Given the description of an element on the screen output the (x, y) to click on. 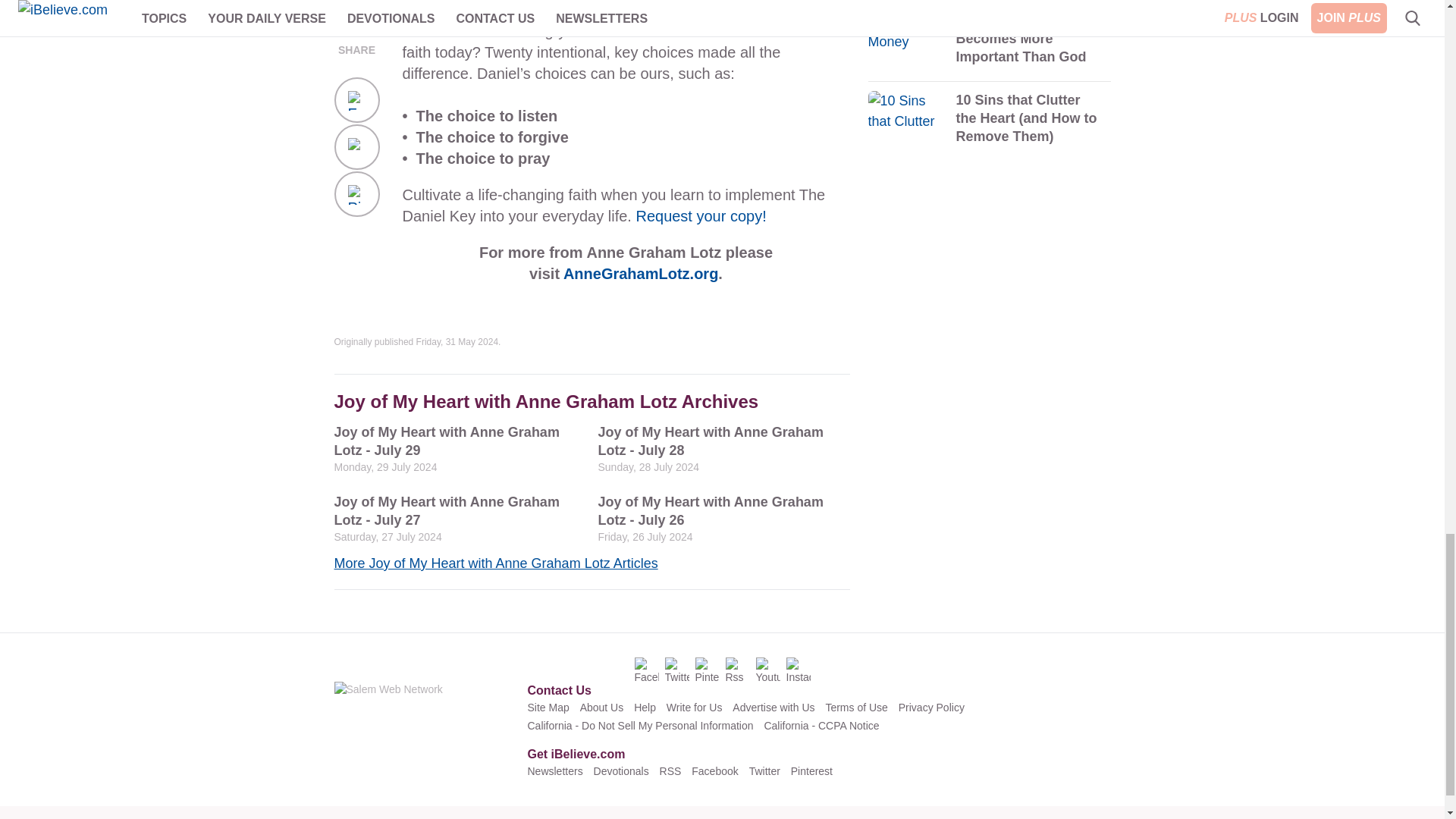
Joy of My Heart with Anne Graham Lotz - July 26 (722, 518)
Joy of My Heart with Anne Graham Lotz - July 27 (459, 518)
Joy of My Heart with Anne Graham Lotz - July 29 (459, 449)
Joy of My Heart with Anne Graham Lotz - July 28 (722, 449)
